Given the description of an element on the screen output the (x, y) to click on. 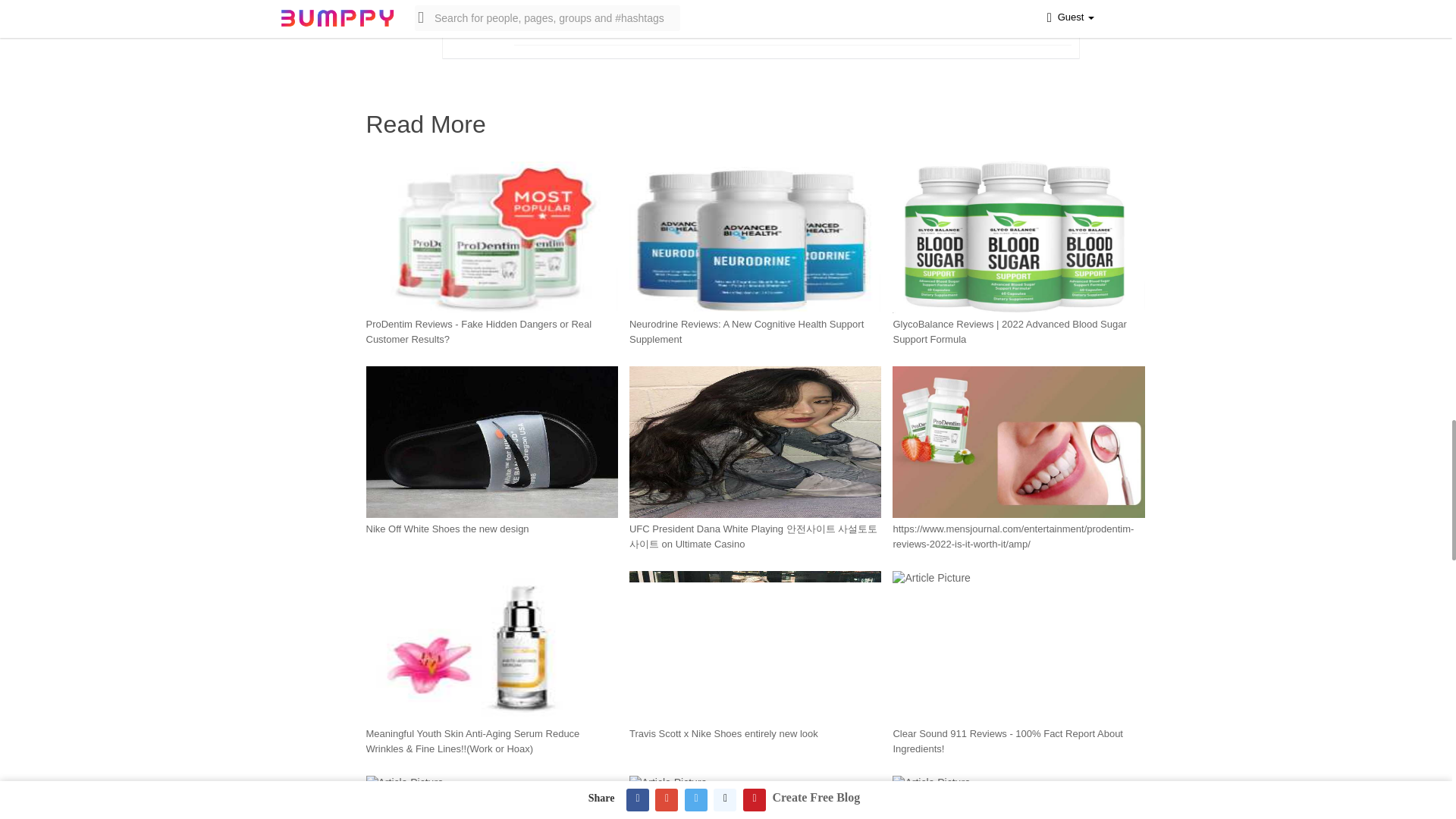
POST (1030, 8)
Nike Off White Shoes the new design (446, 528)
CANCEL (959, 7)
